Given the description of an element on the screen output the (x, y) to click on. 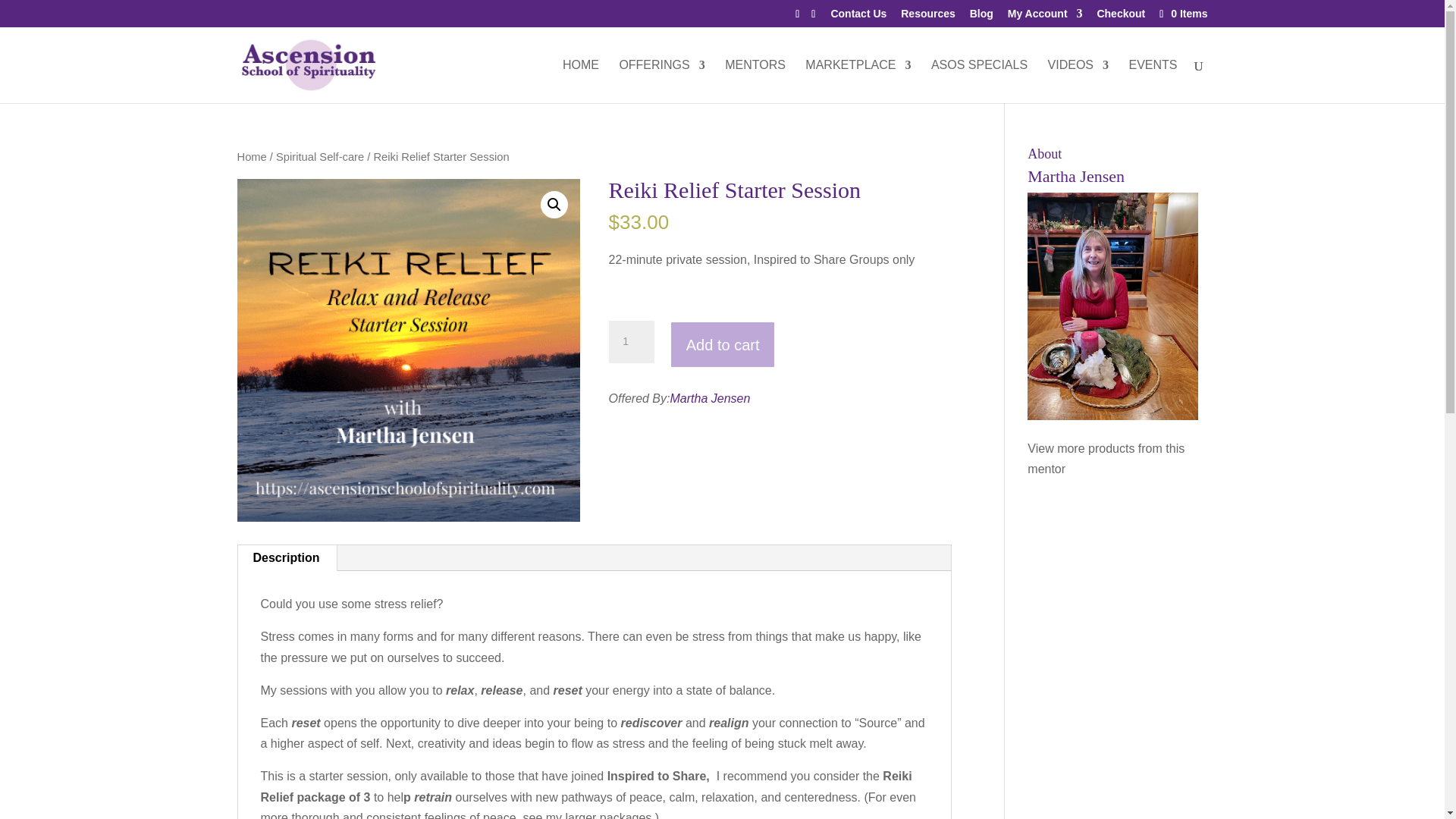
OFFERINGS (661, 81)
Checkout (1120, 16)
Martha Jensen (709, 398)
HOME (580, 81)
0 Items (1181, 13)
Contact Us (857, 16)
Martha Jensen (1106, 458)
Resources (928, 16)
Blog (980, 16)
My Account (1045, 16)
1 (630, 342)
